Given the description of an element on the screen output the (x, y) to click on. 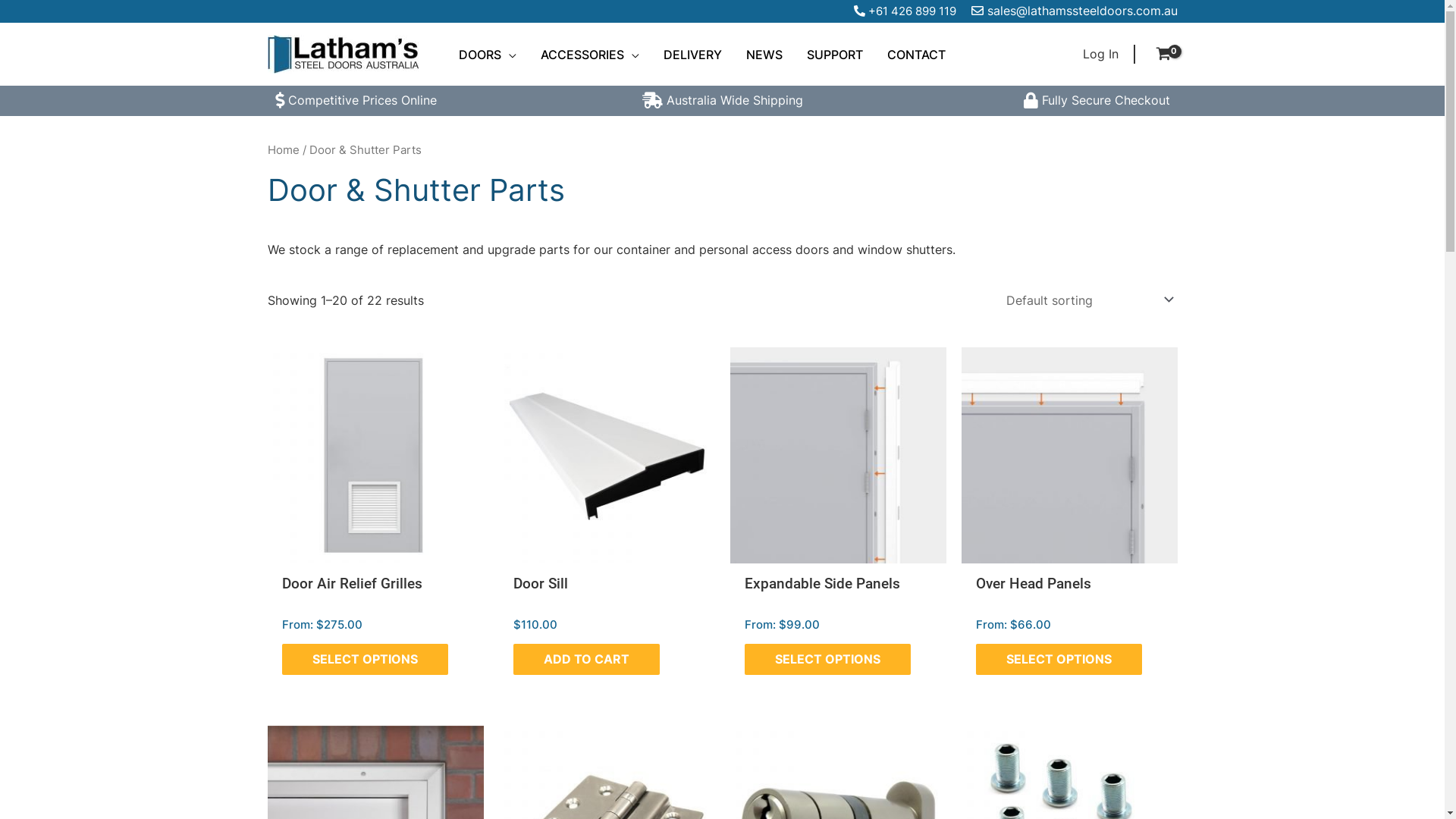
+61 426 899 119 Element type: text (911, 10)
CONTACT Element type: text (916, 53)
sales@lathamssteeldoors.com.au Element type: text (1082, 10)
SUPPORT Element type: text (834, 53)
NEWS Element type: text (764, 53)
Door Air Relief Grilles Element type: text (352, 595)
ACCESSORIES Element type: text (588, 53)
Home Element type: text (282, 149)
SELECT OPTIONS Element type: text (365, 658)
DOORS Element type: text (486, 53)
ADD TO CART Element type: text (586, 658)
DELIVERY Element type: text (691, 53)
Over Head Panels Element type: text (1033, 595)
SELECT OPTIONS Element type: text (1058, 658)
Door Sill Element type: text (540, 595)
SELECT OPTIONS Element type: text (827, 658)
Expandable Side Panels Element type: text (822, 595)
Log In Element type: text (1100, 54)
